Given the description of an element on the screen output the (x, y) to click on. 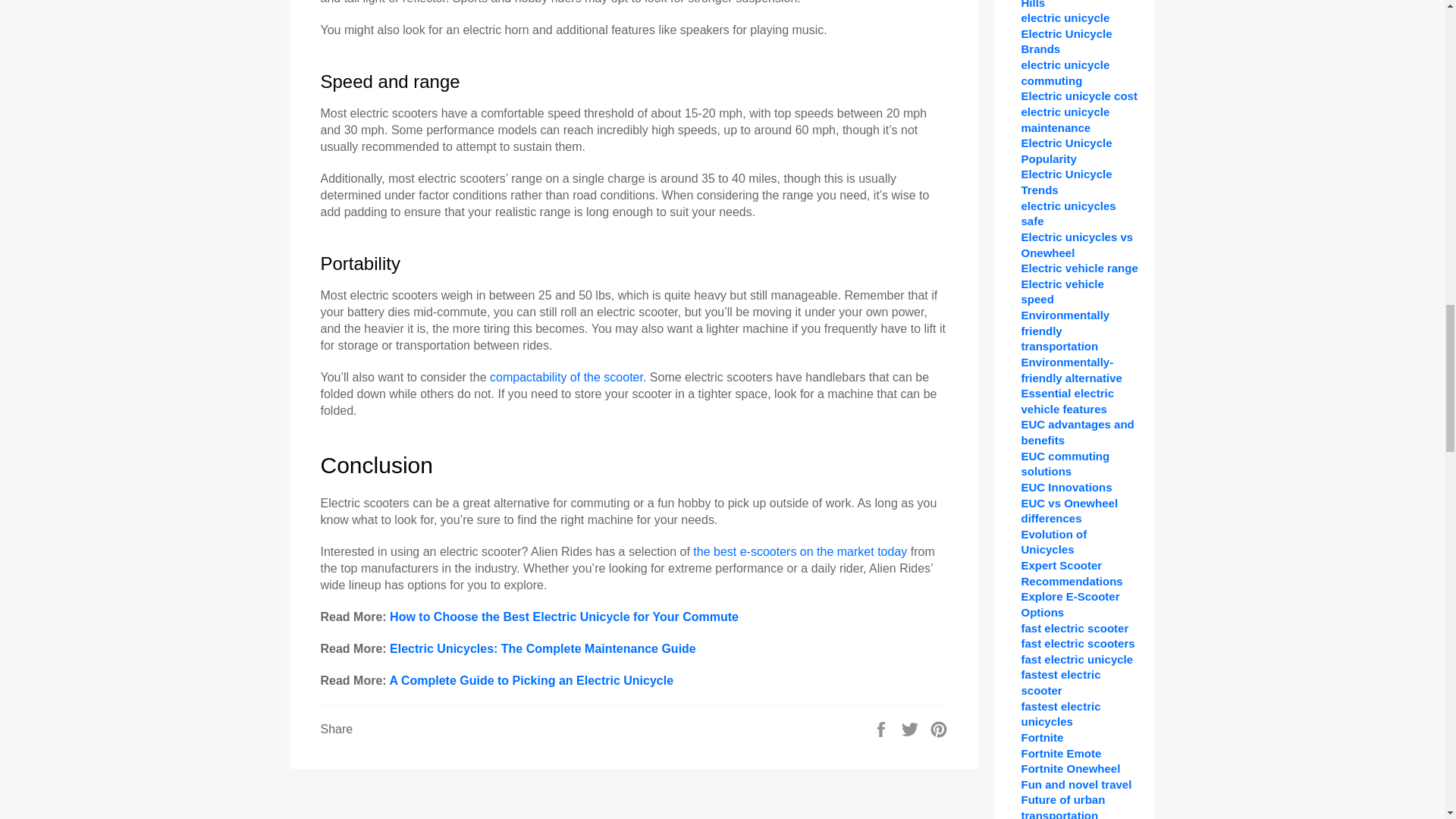
Pin on Pinterest (938, 727)
Share on Facebook (882, 727)
Tweet on Twitter (911, 727)
